Given the description of an element on the screen output the (x, y) to click on. 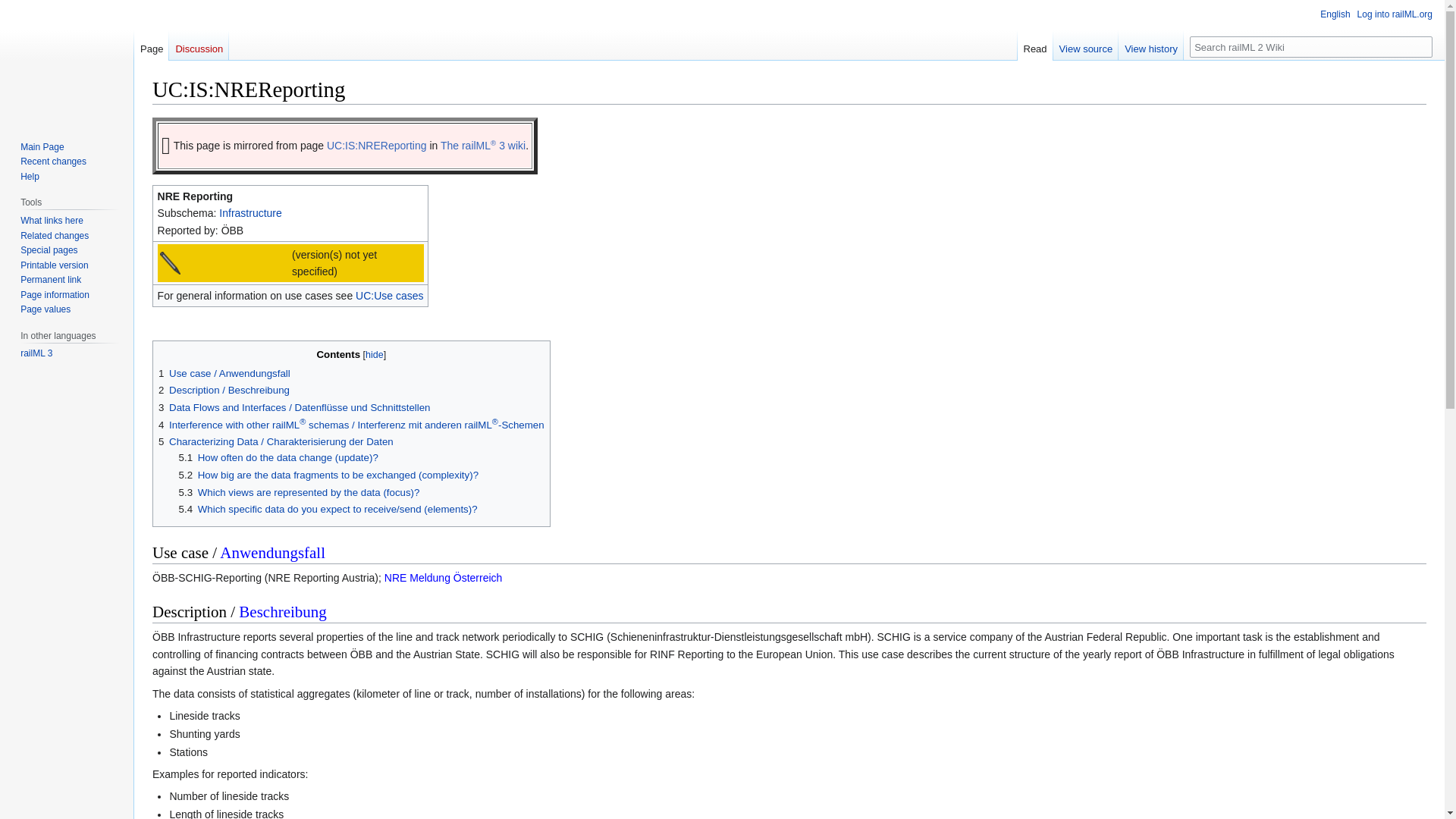
Discussion (198, 45)
Log into railML.org (1394, 14)
UC:Use cases (389, 295)
Search (1420, 46)
View source (1085, 45)
wiki3: (483, 145)
English (1326, 11)
Go (1420, 46)
Help (29, 176)
UC:Use cases (389, 295)
